Given the description of an element on the screen output the (x, y) to click on. 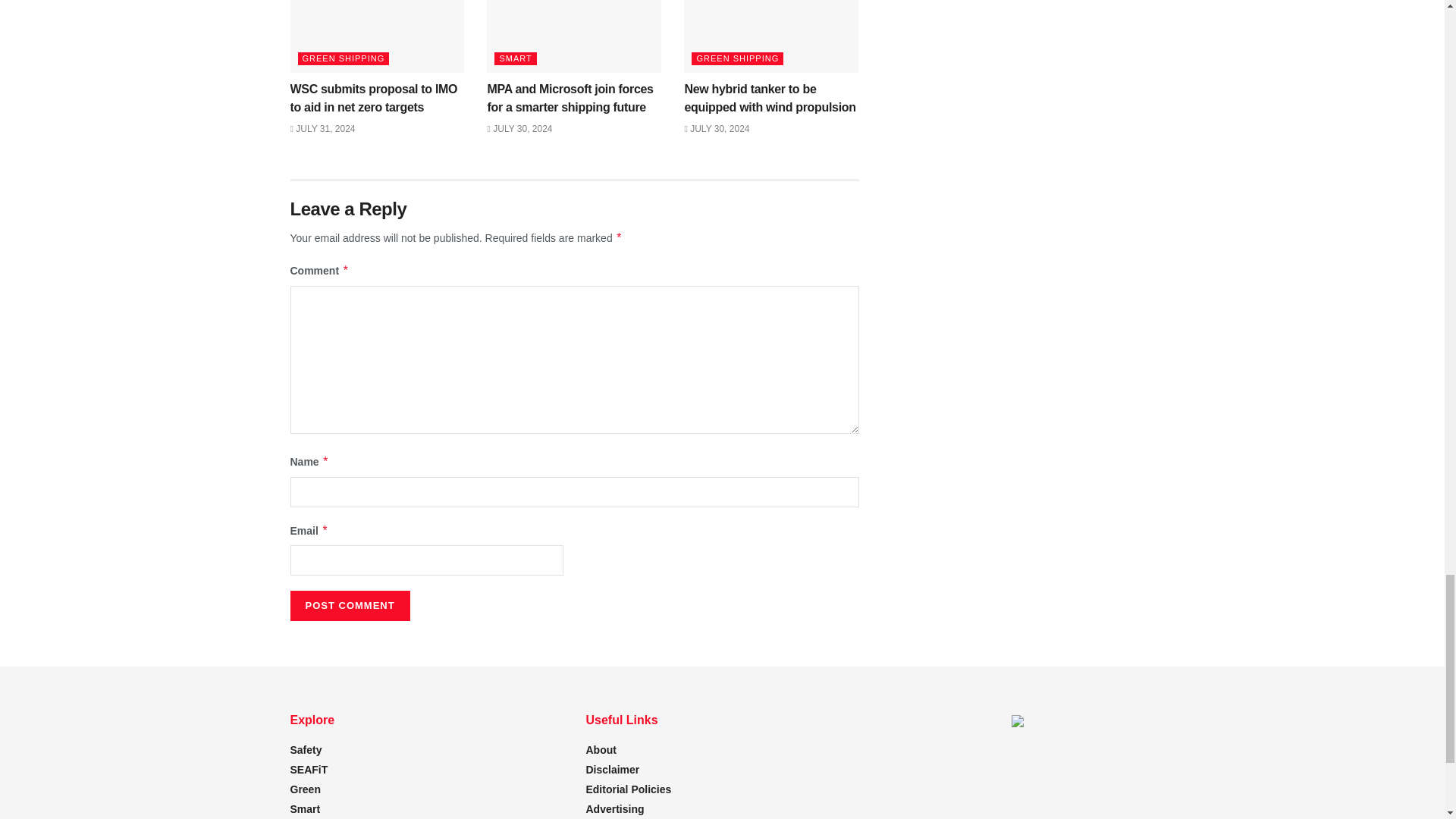
Post Comment (349, 605)
